Given the description of an element on the screen output the (x, y) to click on. 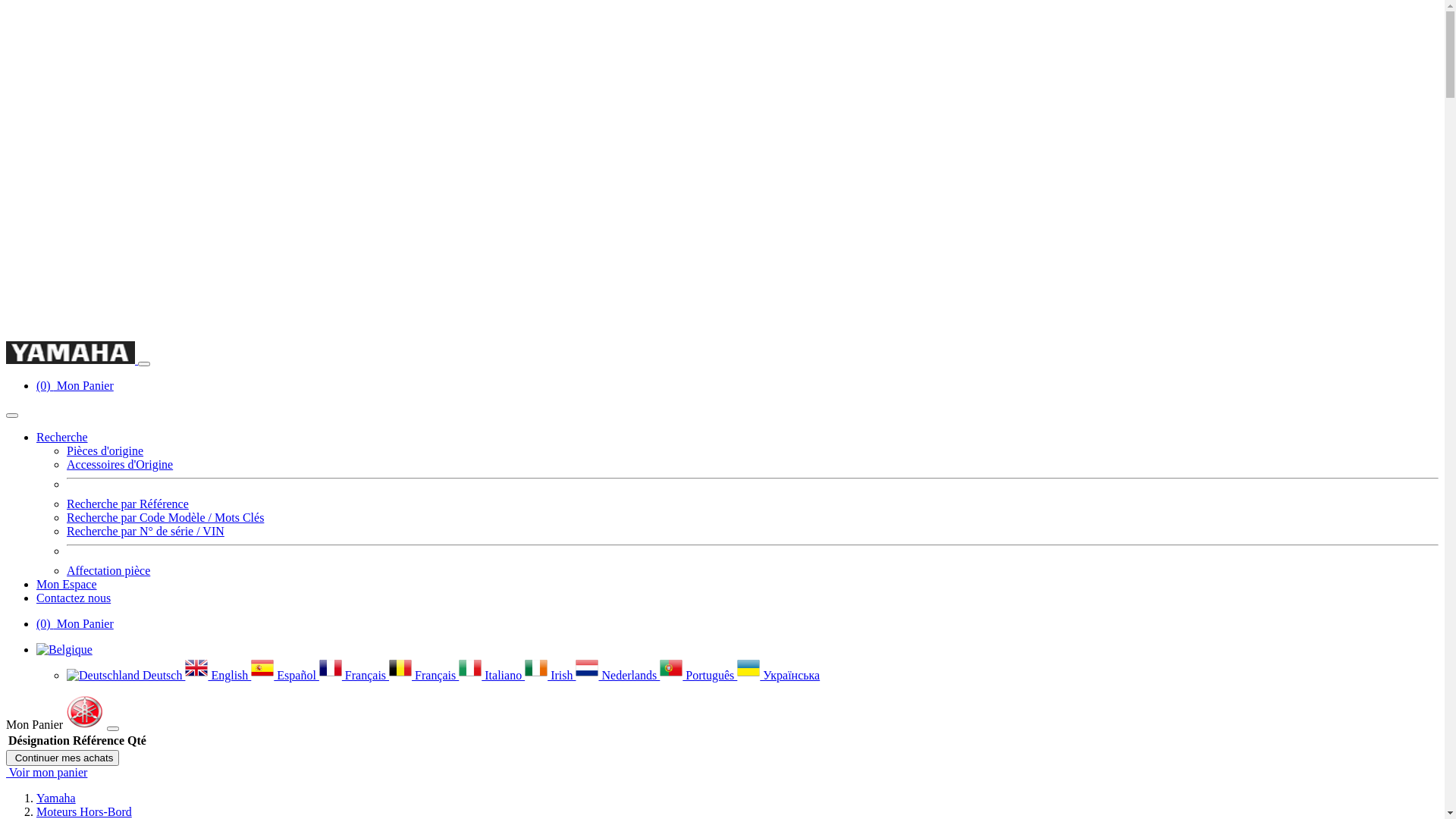
Accessoires d'Origine Element type: text (119, 464)
(0)  Mon Panier Element type: text (74, 385)
Nederlands Element type: text (617, 674)
Italiano Element type: text (491, 674)
(0)  Mon Panier Element type: text (74, 623)
Moteurs Hors-Bord Element type: text (83, 811)
Contactez nous Element type: text (73, 597)
 Continuer mes achats Element type: text (62, 757)
Irish Element type: text (549, 674)
 Voir mon panier Element type: text (46, 771)
Deutsch Element type: text (125, 674)
Recherche Element type: text (61, 436)
Yamaha Element type: text (55, 797)
English Element type: text (218, 674)
Mon Espace Element type: text (66, 583)
